Given the description of an element on the screen output the (x, y) to click on. 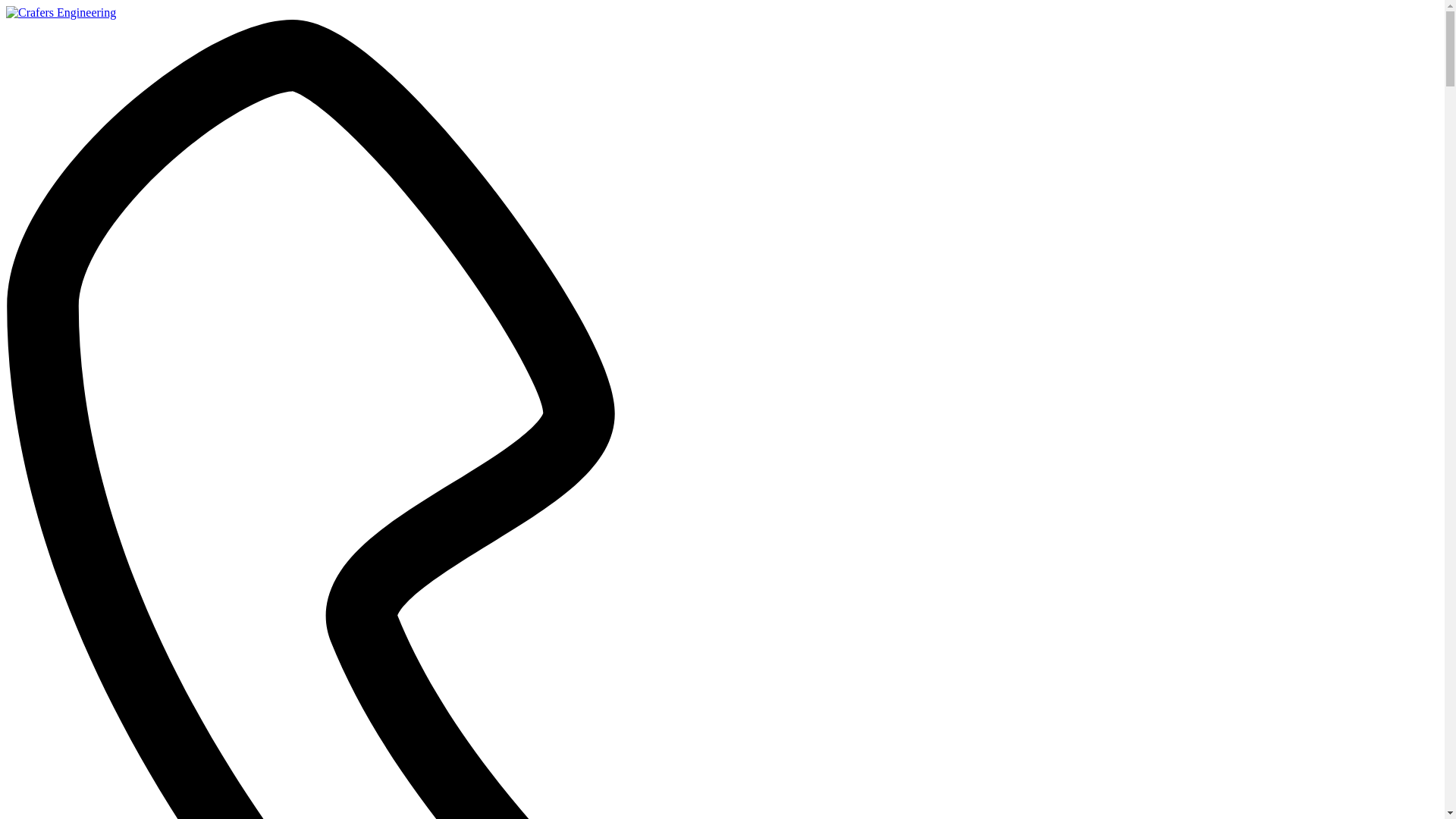
Skip to content Element type: text (5, 5)
Crafers Engineering Element type: hover (61, 12)
